Given the description of an element on the screen output the (x, y) to click on. 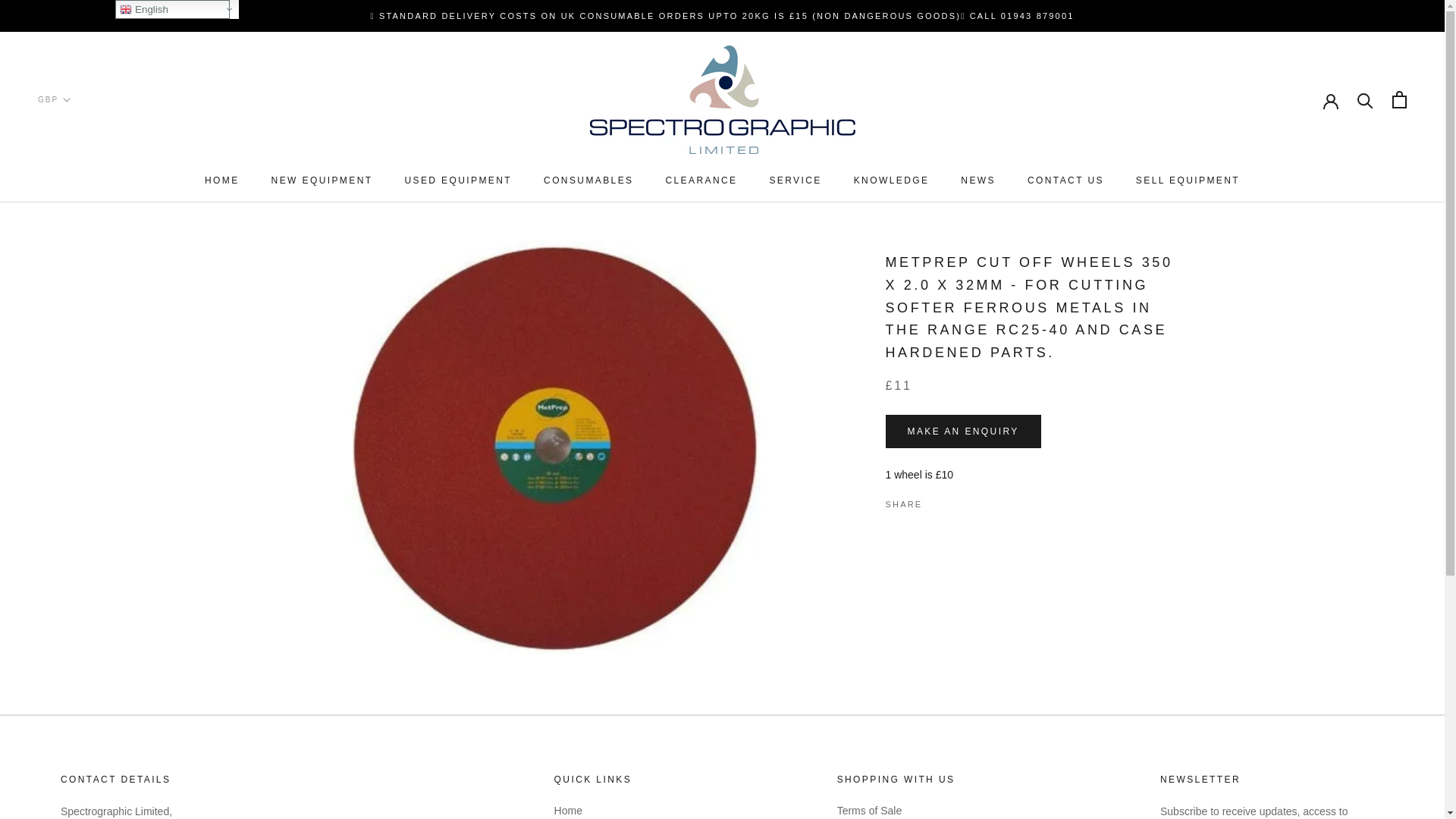
Currency selector (53, 99)
